Given the description of an element on the screen output the (x, y) to click on. 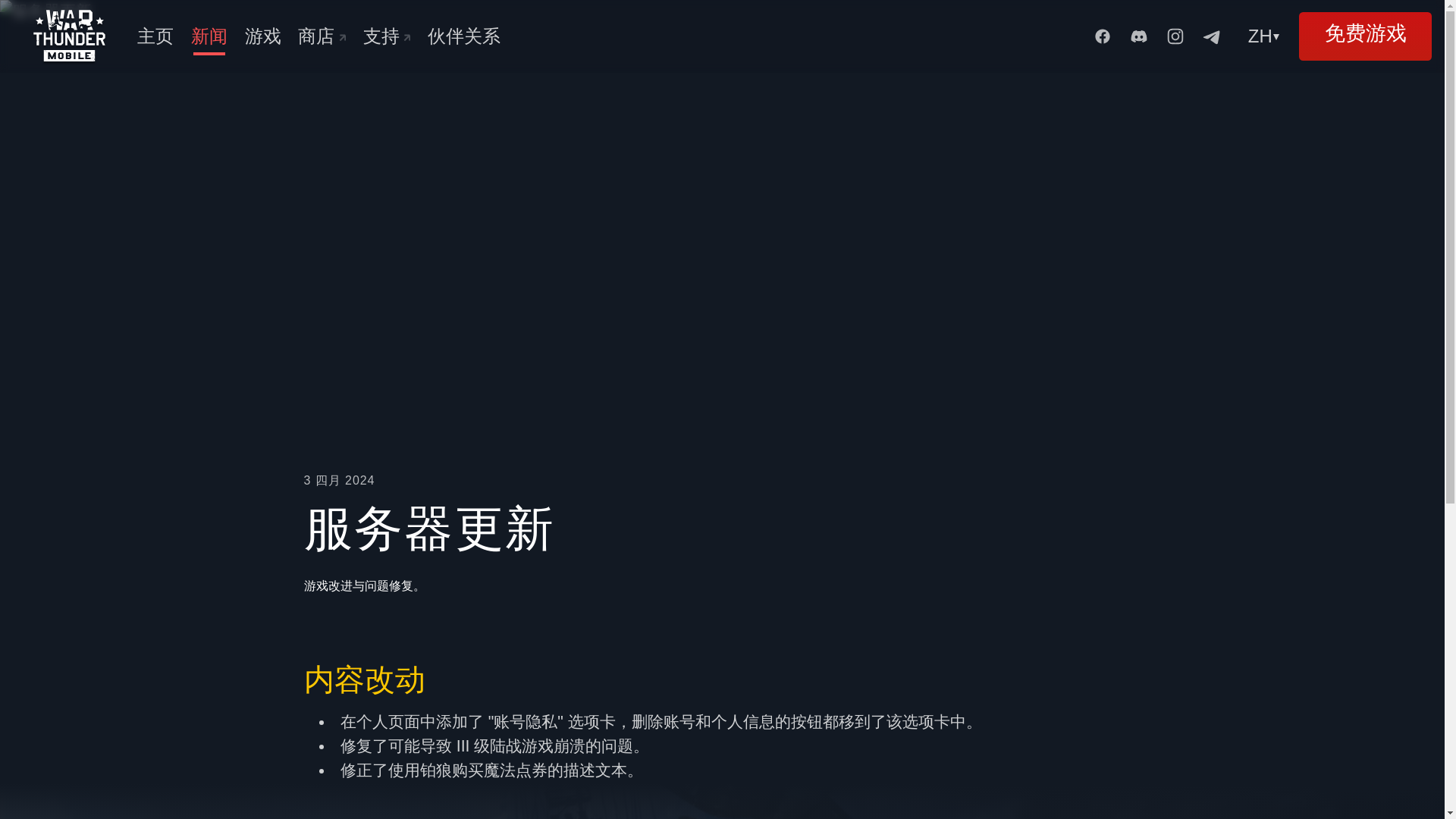
ZH (1265, 35)
